Given the description of an element on the screen output the (x, y) to click on. 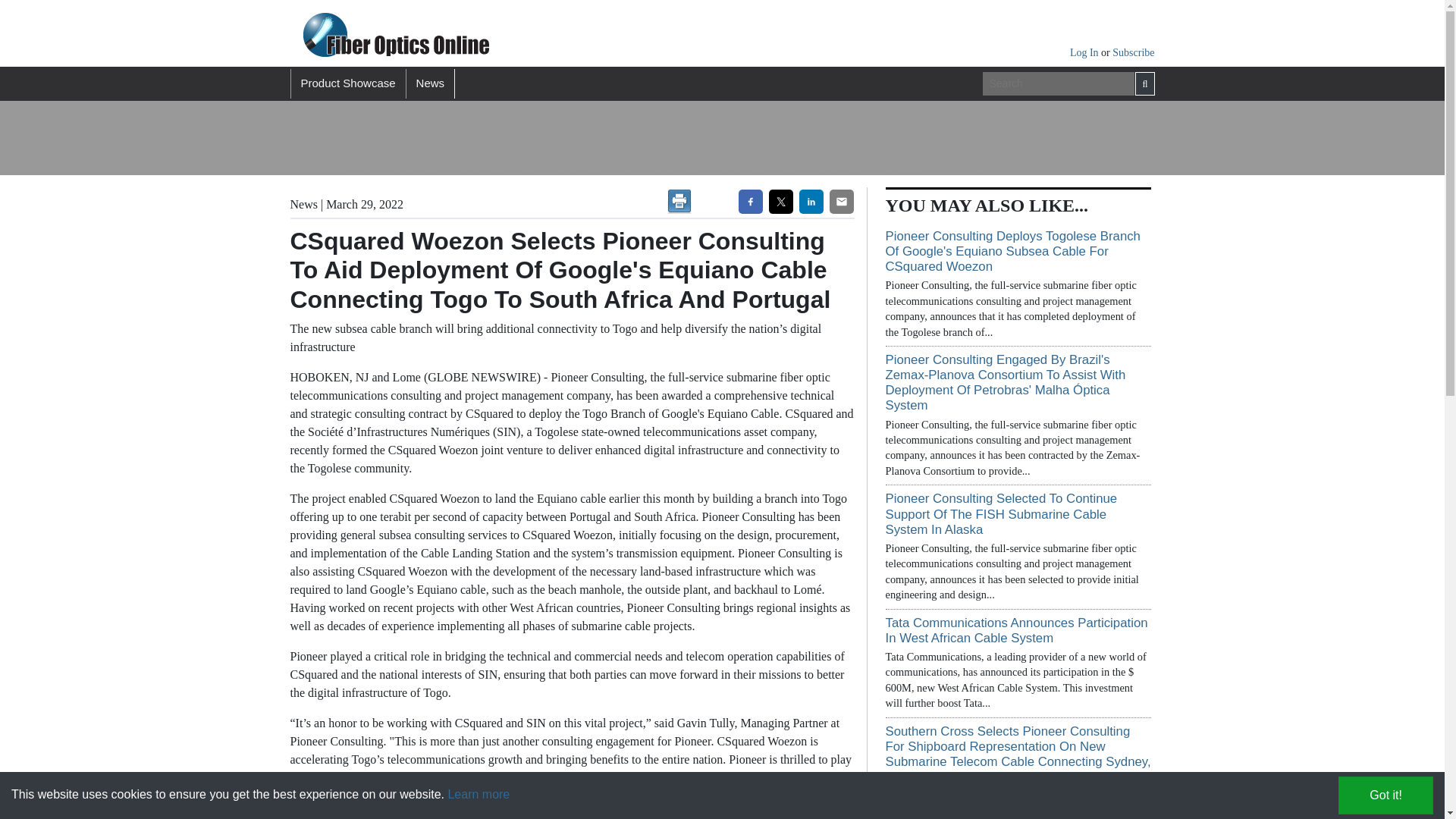
Log In (1085, 52)
Print (679, 201)
Got it! (1385, 795)
3rd party ad content (623, 137)
Product Showcase (346, 83)
News (430, 83)
3rd party ad content (1008, 137)
Learn more (477, 793)
